Given the description of an element on the screen output the (x, y) to click on. 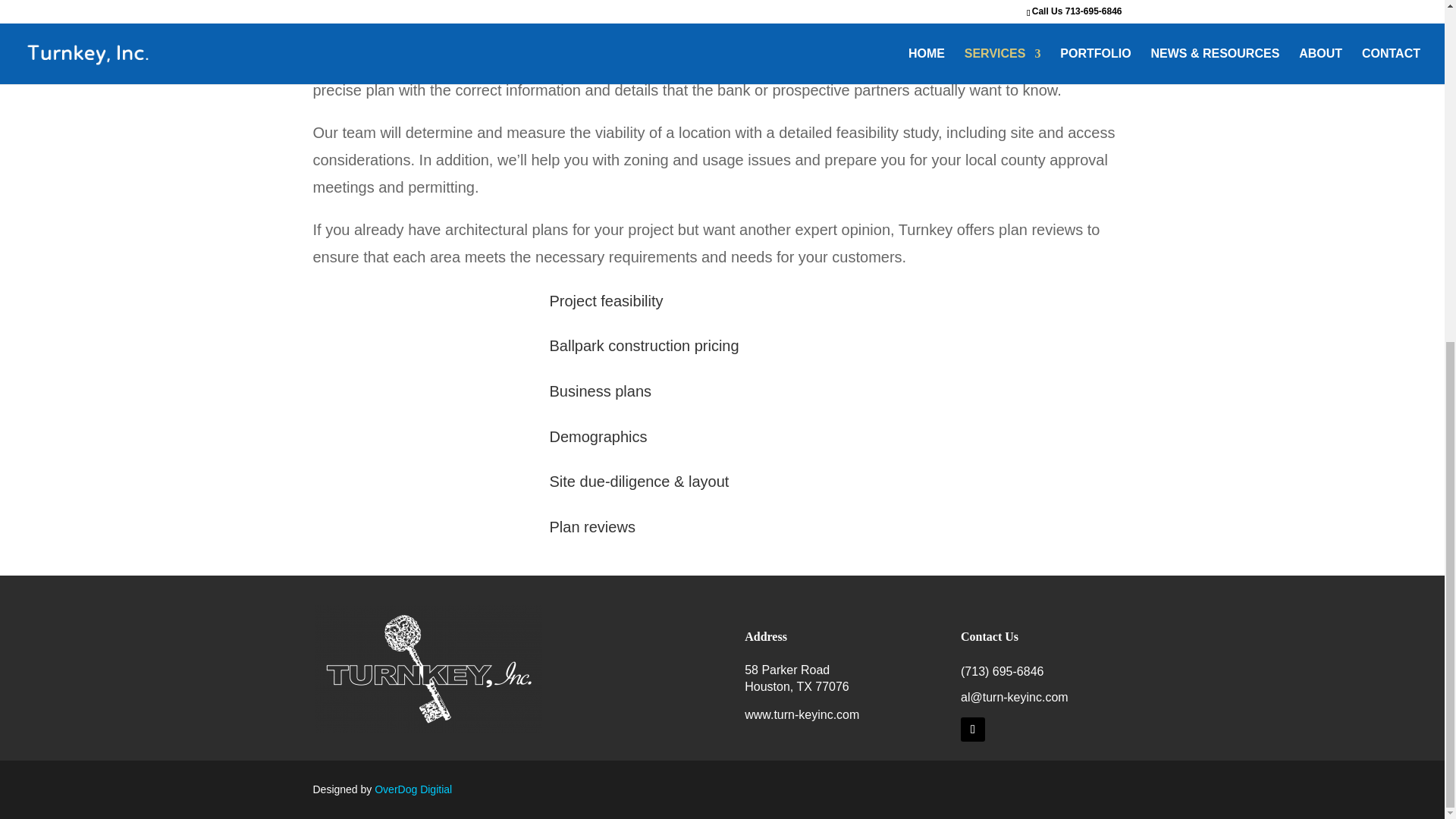
OverDog Digitial (411, 788)
Tunrkey-LOGO-white (427, 668)
Follow on X (972, 729)
